Given the description of an element on the screen output the (x, y) to click on. 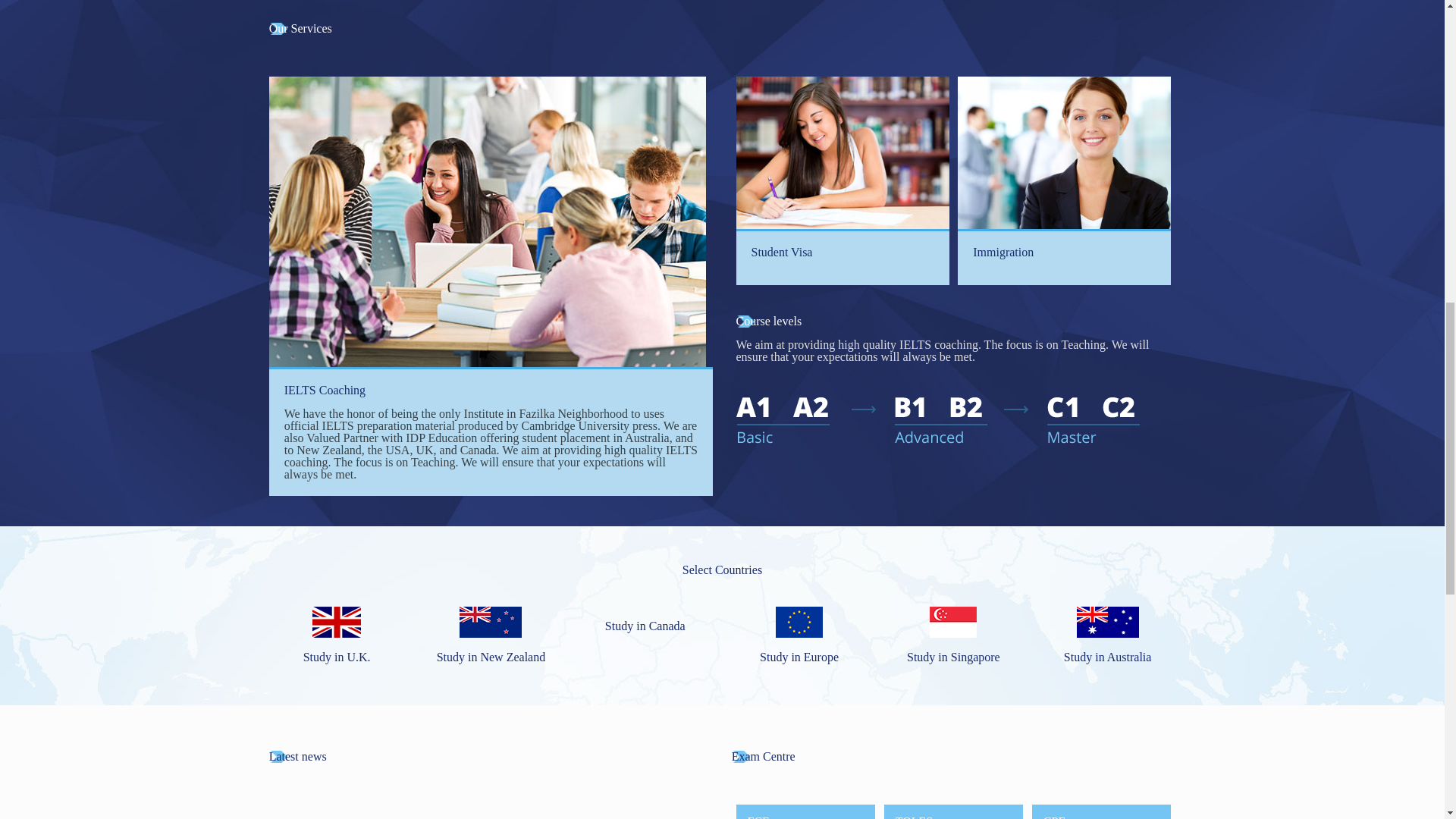
Student Visa (842, 180)
Study in U.K. (336, 650)
Immigration (1064, 180)
Study in Canada (644, 632)
Study in New Zealand (491, 650)
Study in Australia (1106, 650)
Study in Singapore (953, 650)
Study in Europe (799, 650)
